Given the description of an element on the screen output the (x, y) to click on. 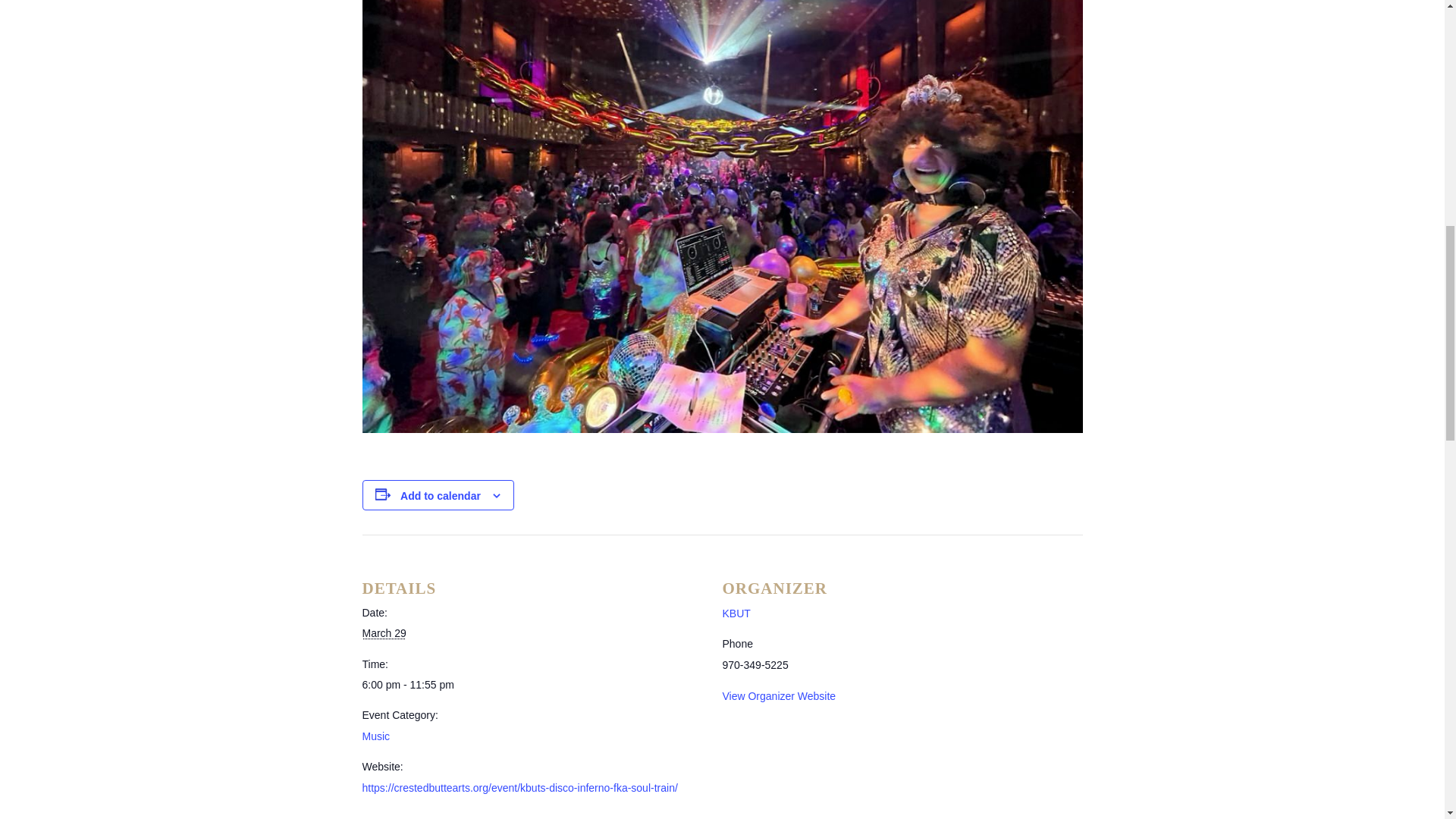
View Organizer Website (778, 695)
KBUT (735, 613)
2024-03-29 (533, 684)
Music (376, 736)
KBUT (735, 613)
Add to calendar (440, 495)
2024-03-29 (384, 633)
